Given the description of an element on the screen output the (x, y) to click on. 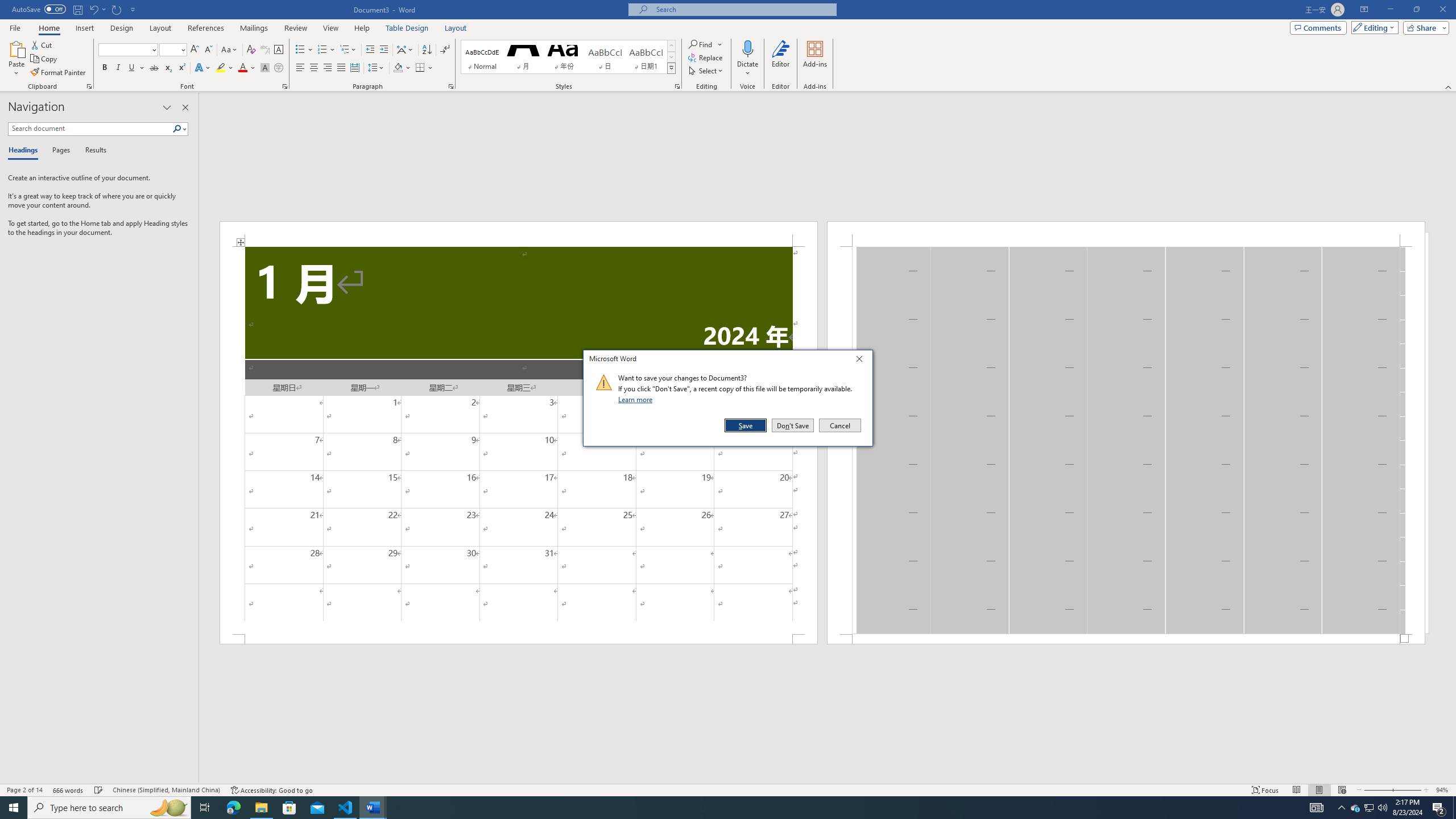
Show desktop (1454, 807)
Multilevel List (347, 49)
Subscript (167, 67)
Center (313, 67)
Spelling and Grammar Check Checking (98, 790)
Grow Font (193, 49)
